Given the description of an element on the screen output the (x, y) to click on. 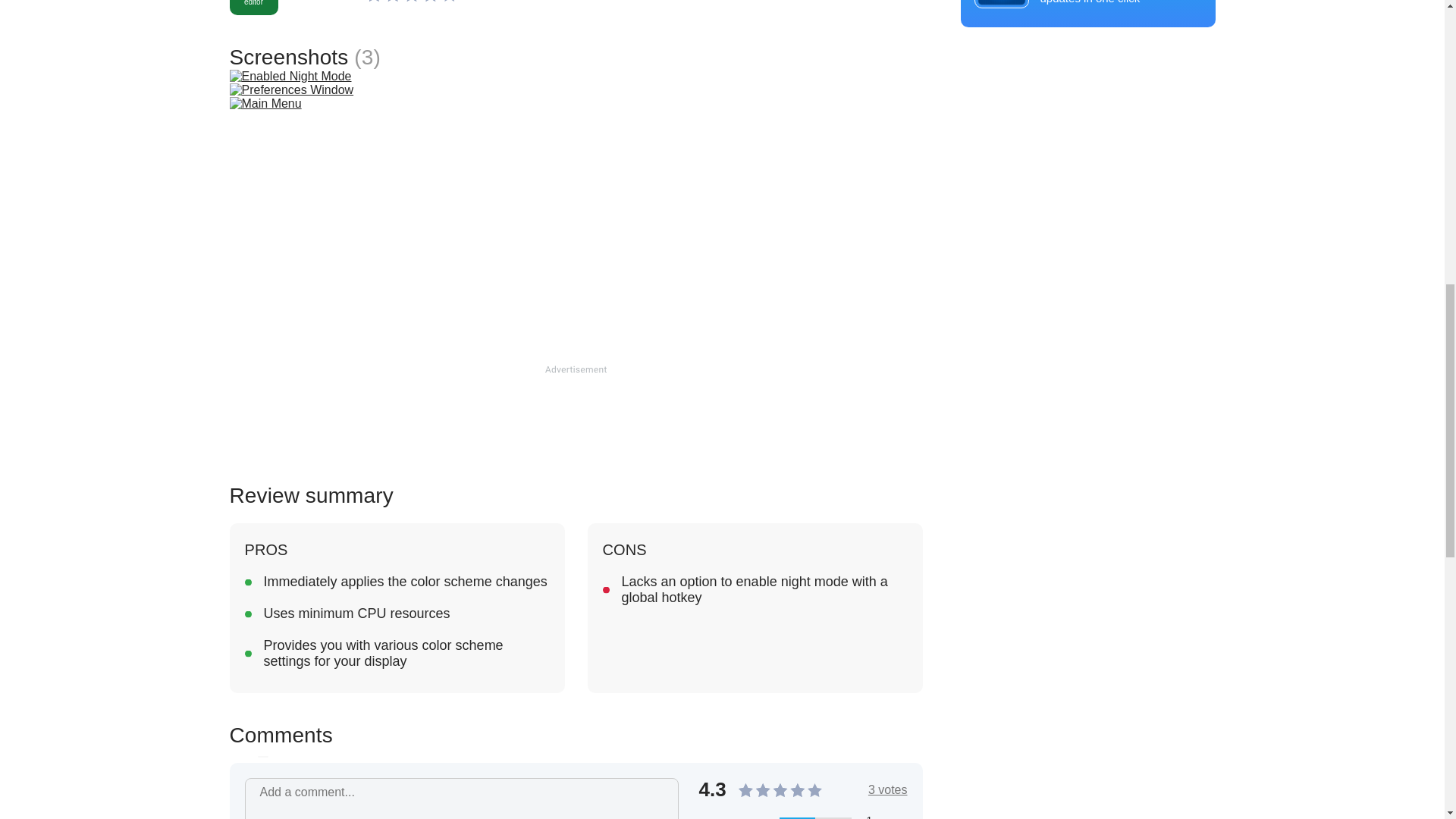
3 votes (887, 789)
